Given the description of an element on the screen output the (x, y) to click on. 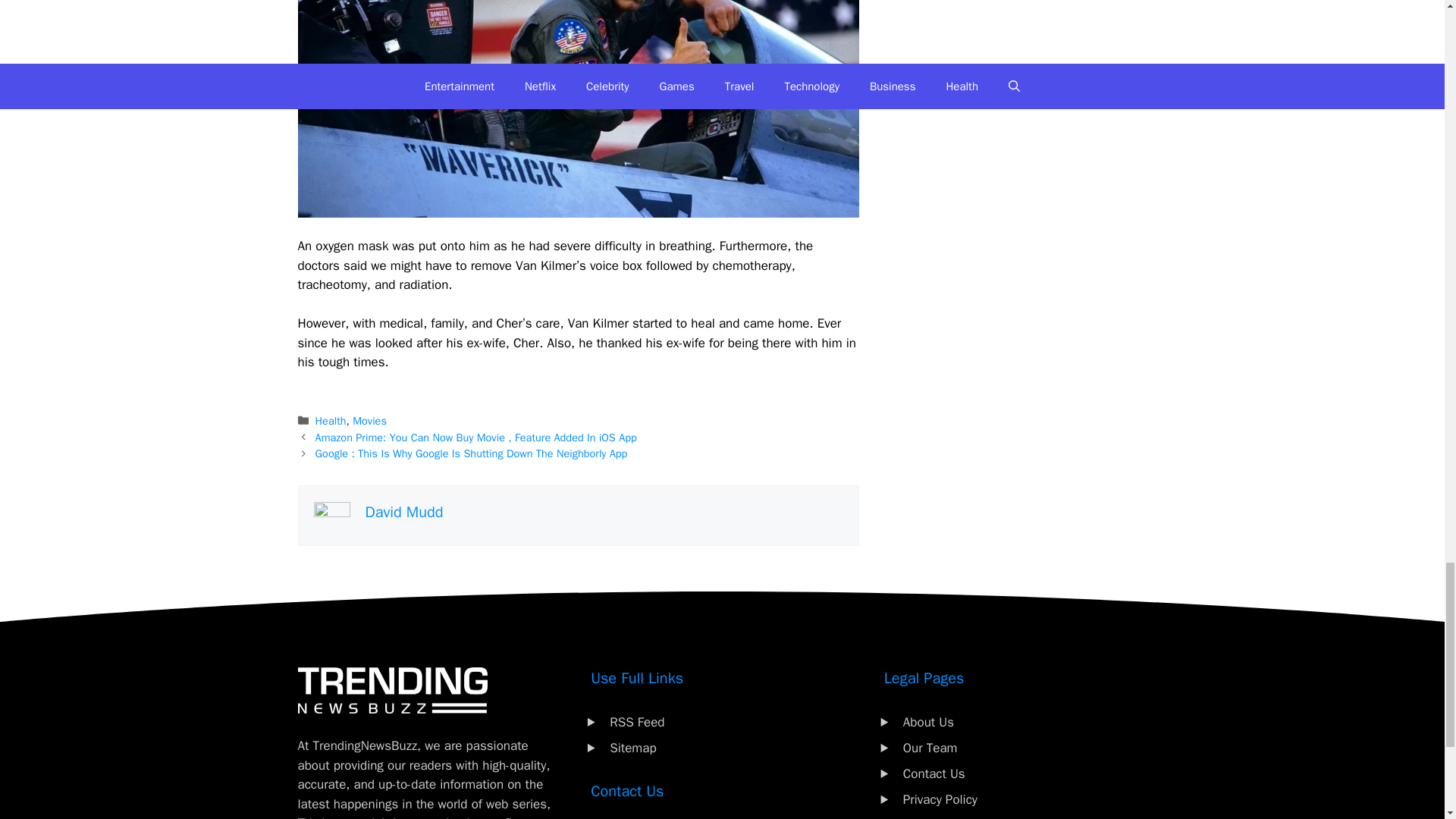
David Mudd (404, 511)
Health (330, 420)
Trendingnewsbuzz-white (391, 690)
Movies (369, 420)
